Given the description of an element on the screen output the (x, y) to click on. 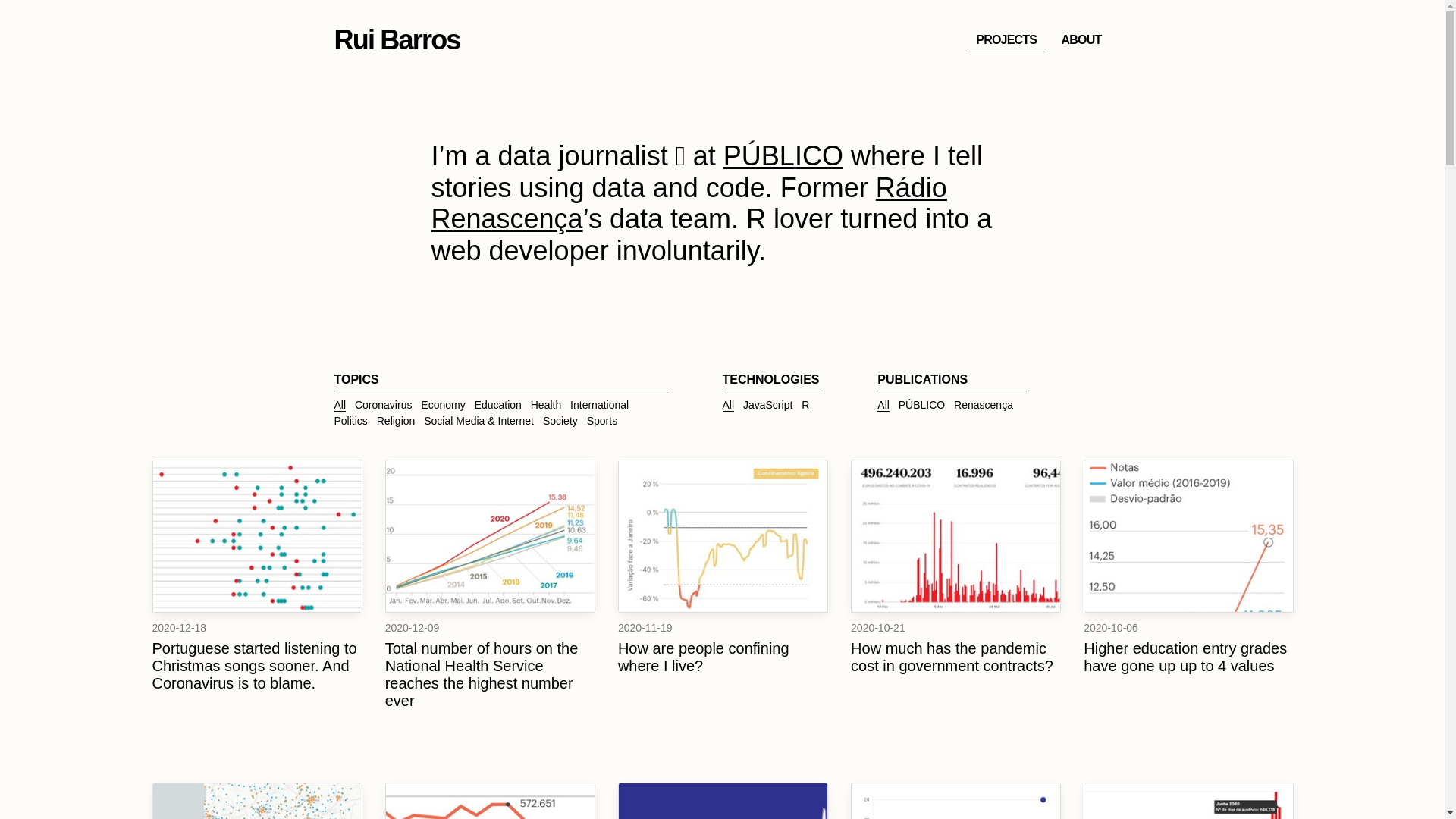
Society (560, 420)
International (599, 404)
About (1081, 39)
Rui Barros (396, 39)
Coronavirus (383, 404)
ABOUT (1081, 39)
Economy (442, 404)
Education (497, 404)
